Given the description of an element on the screen output the (x, y) to click on. 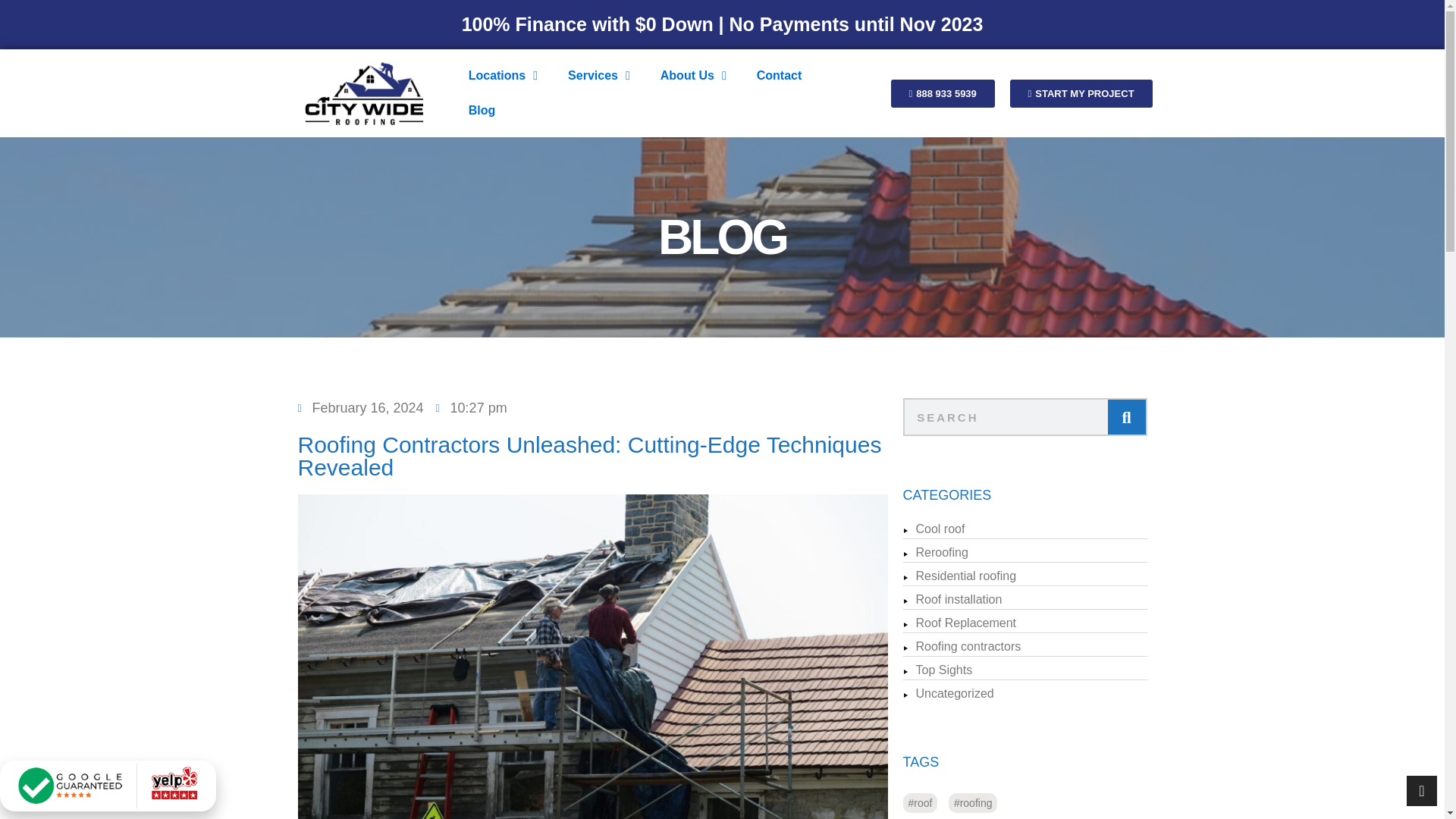
Locations (502, 75)
Blog (481, 110)
Services (599, 75)
About Us (693, 75)
Contact (778, 75)
